Given the description of an element on the screen output the (x, y) to click on. 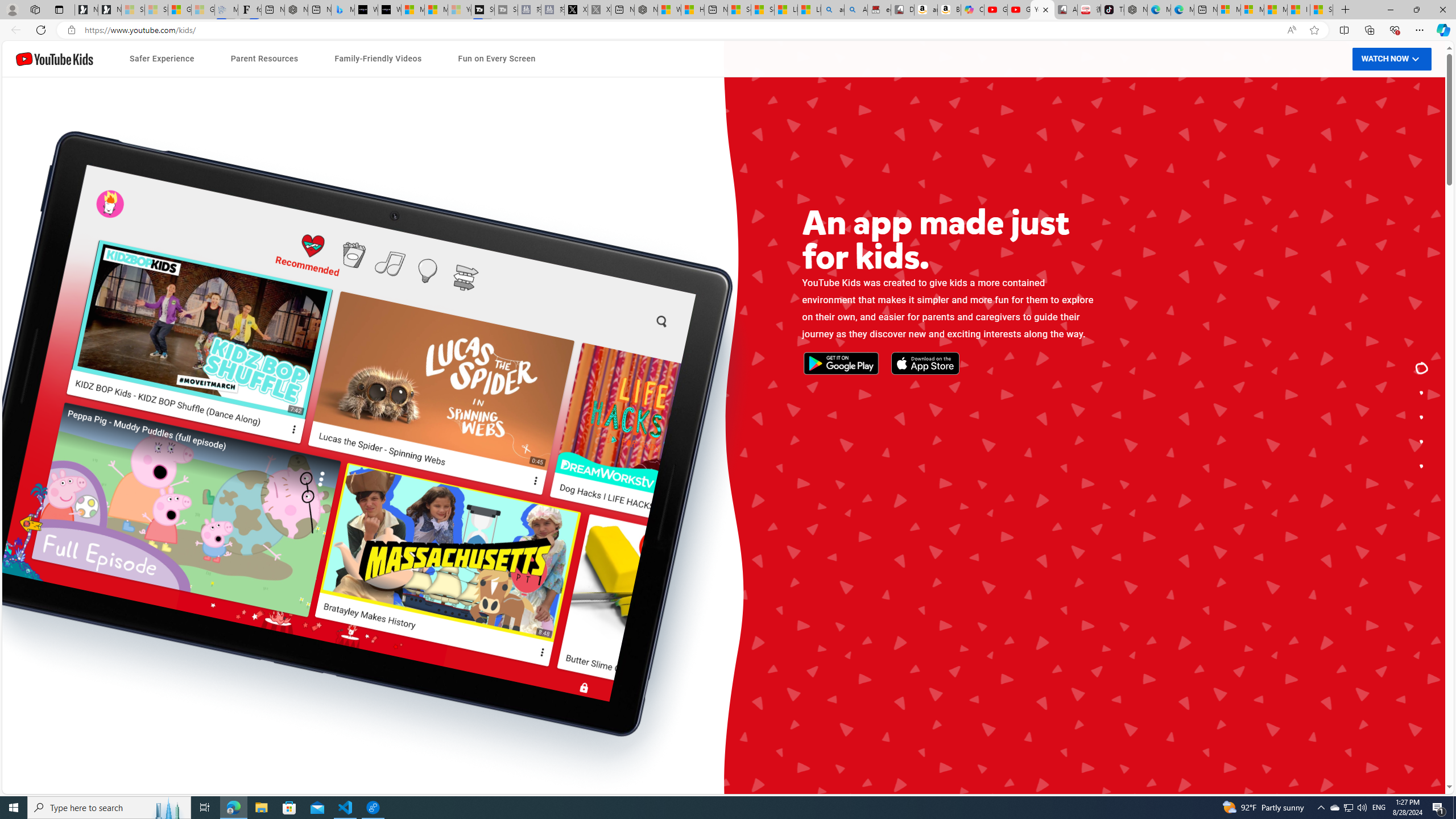
All kinds of videos for all kinds of kids. (1421, 441)
Get it on Google Play (386, 432)
Class: ytk-dot-nav__circle (1421, 465)
Newsletter Sign Up (109, 9)
Microsoft account | Privacy (1252, 9)
An app made just for kids. (1421, 368)
03Timer (496, 526)
04 Blocking (496, 550)
Class: ytk__arrow-link-icon ytk-desktop-up-only-inline (914, 442)
Gloom - YouTube (1019, 9)
A safer online experience for kids. (1421, 392)
